Given the description of an element on the screen output the (x, y) to click on. 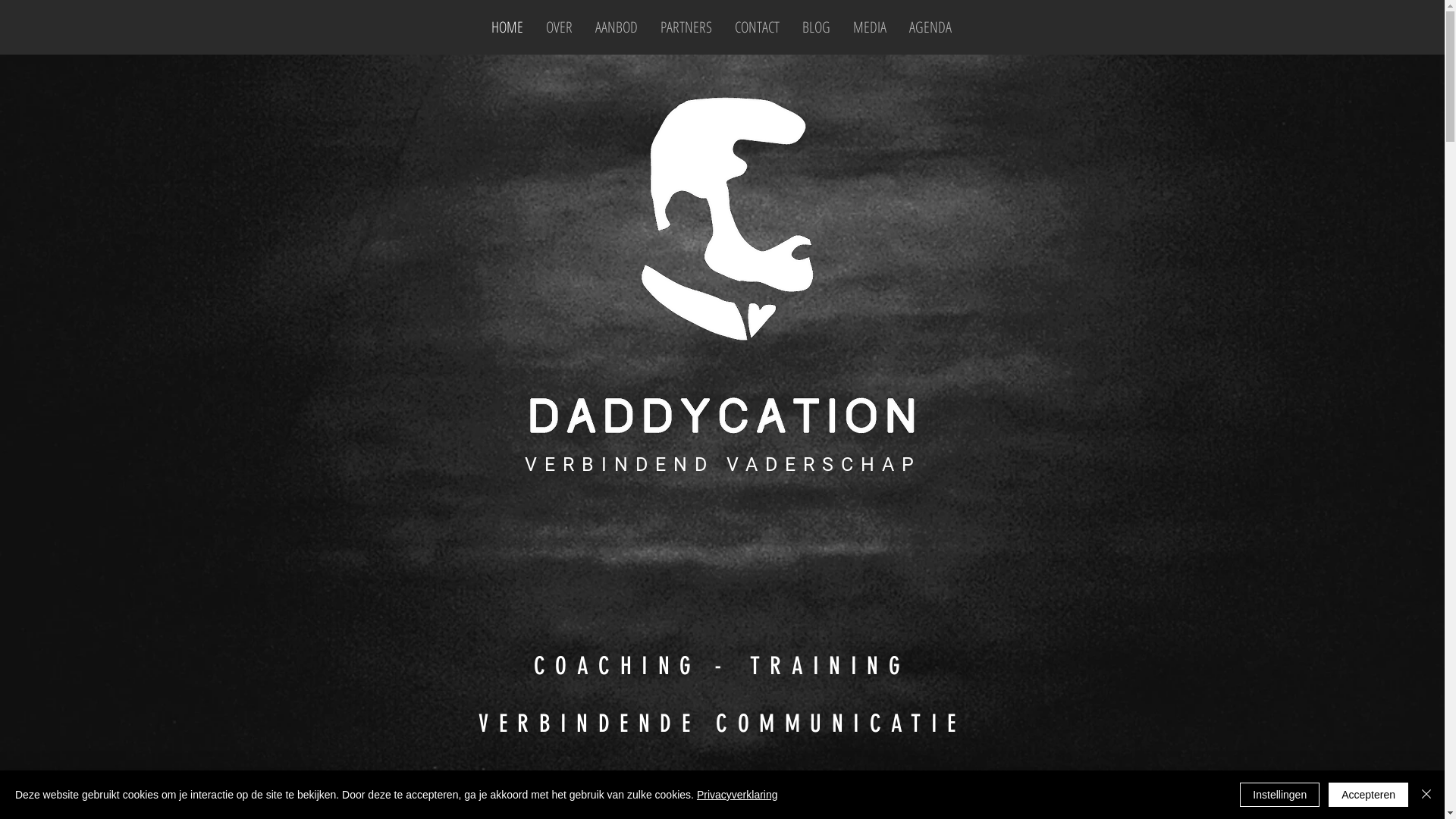
CONTACT Element type: text (756, 27)
HOME Element type: text (506, 27)
BLOG Element type: text (815, 27)
Accepteren Element type: text (1368, 794)
PARTNERS Element type: text (686, 27)
Privacyverklaring Element type: text (737, 794)
AGENDA Element type: text (930, 27)
MEDIA Element type: text (869, 27)
AANBOD Element type: text (616, 27)
Instellingen Element type: text (1279, 794)
OVER Element type: text (558, 27)
